Given the description of an element on the screen output the (x, y) to click on. 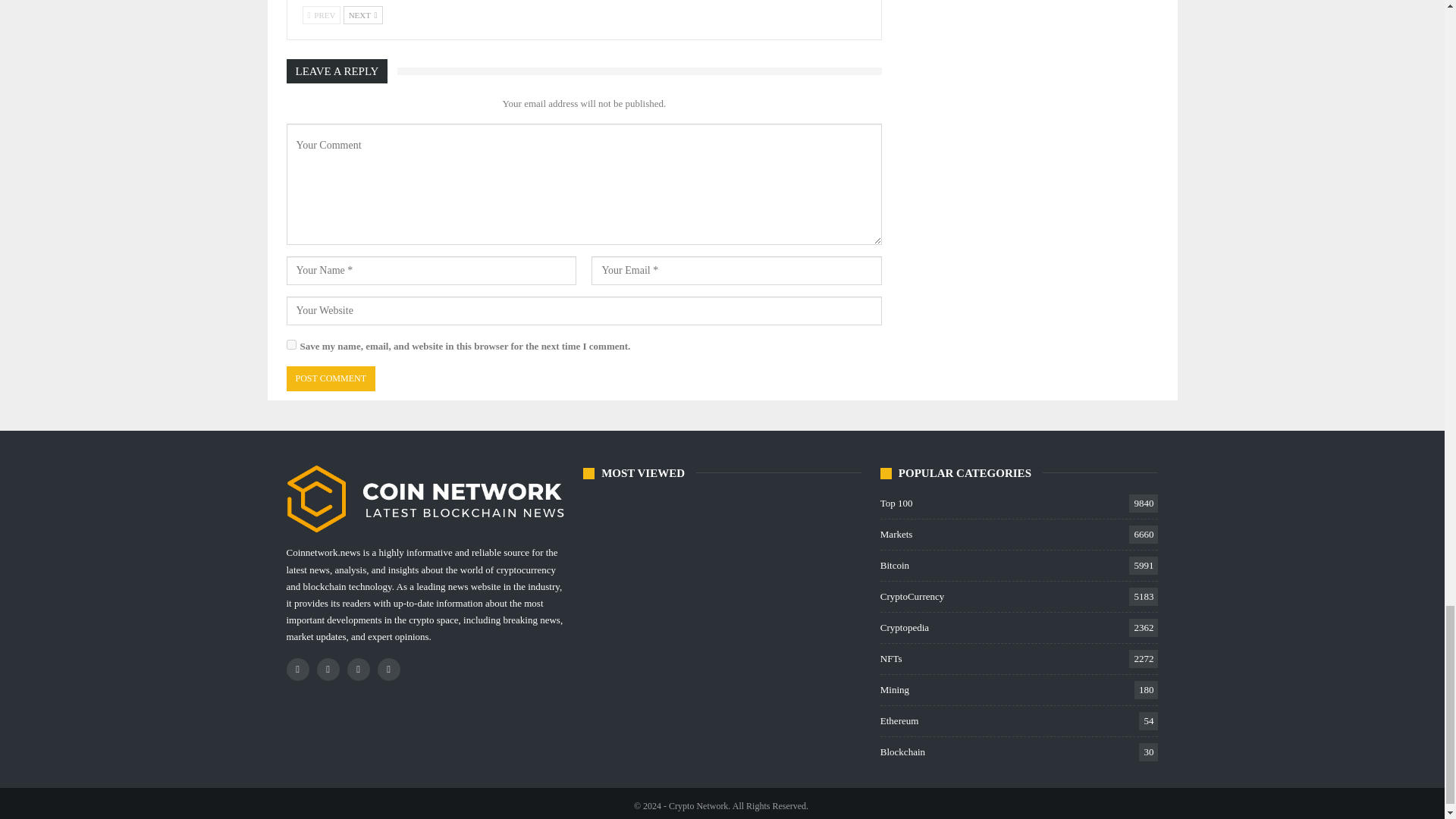
yes (291, 344)
Post Comment (330, 378)
